Given the description of an element on the screen output the (x, y) to click on. 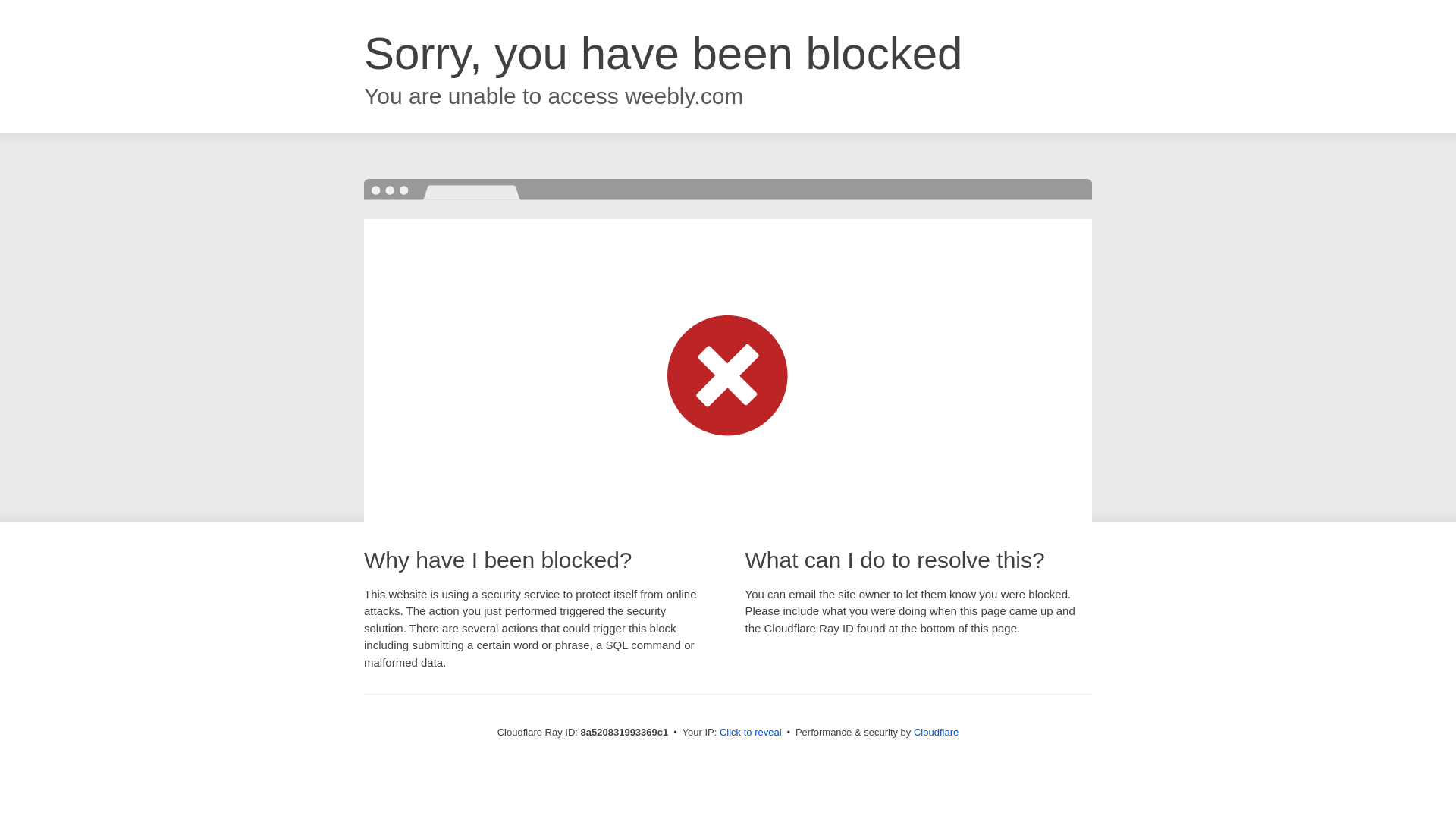
Click to reveal (750, 732)
Cloudflare (936, 731)
